Given the description of an element on the screen output the (x, y) to click on. 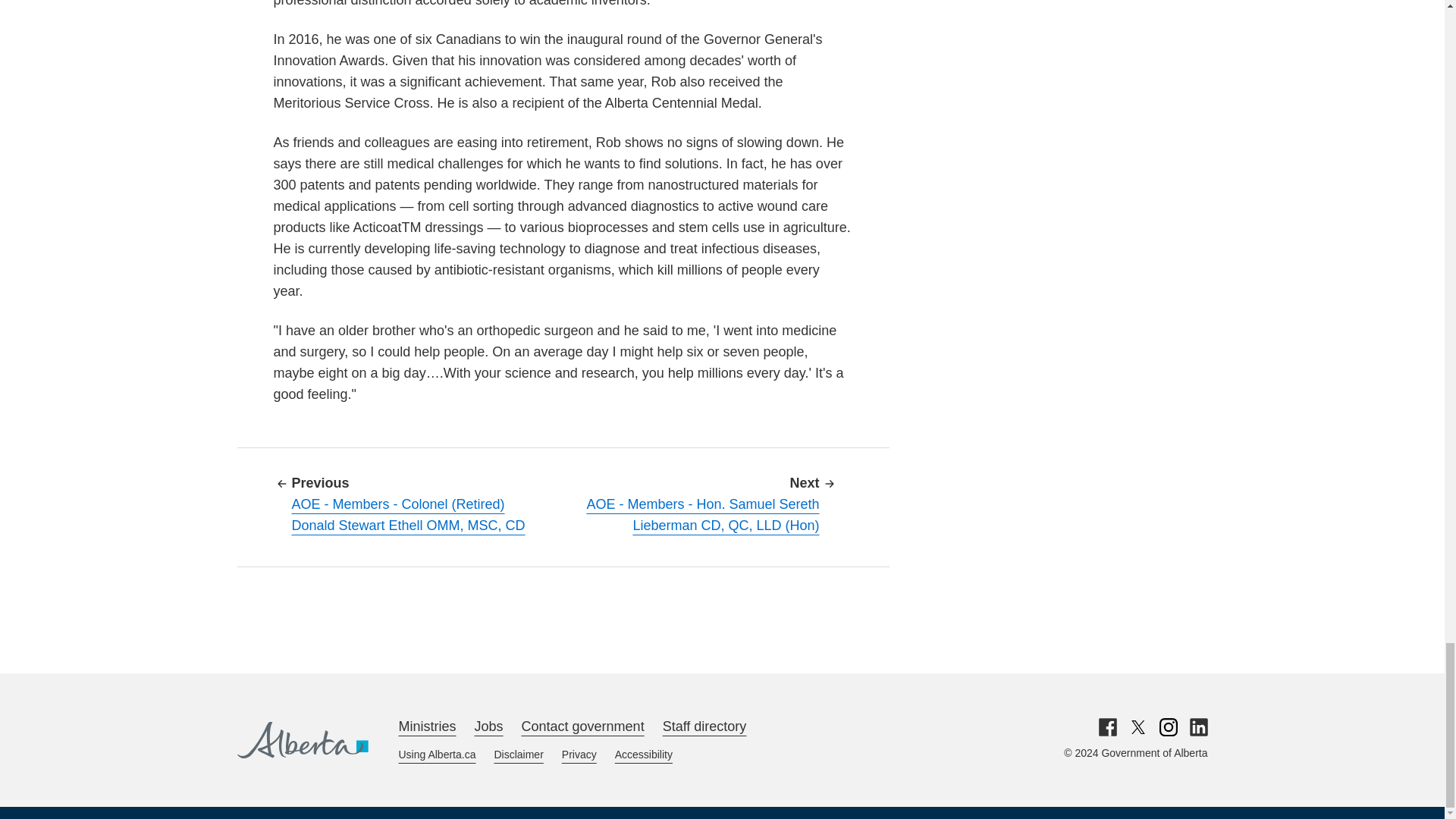
Home (301, 739)
